Given the description of an element on the screen output the (x, y) to click on. 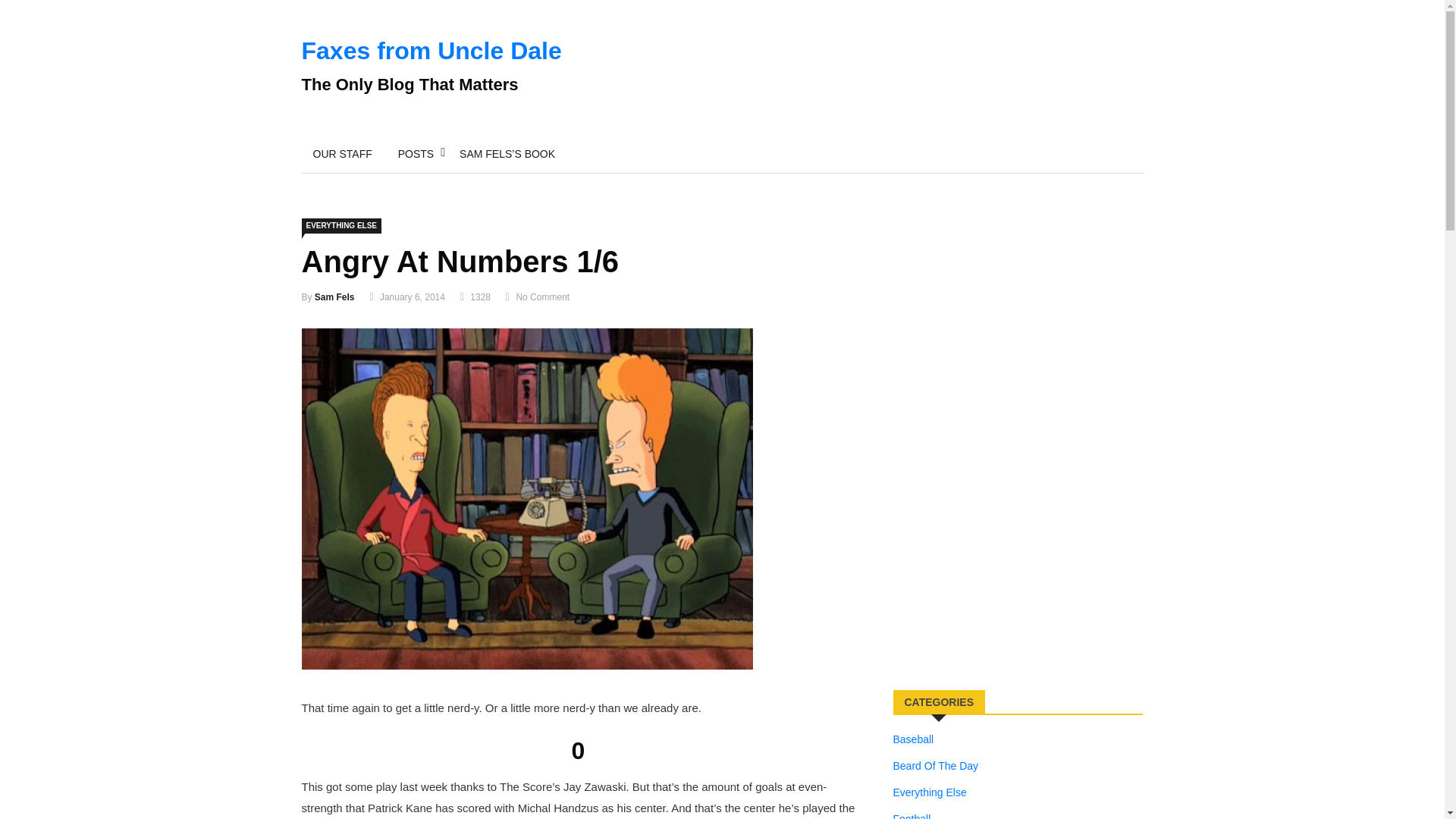
Everything Else (929, 791)
Sam Fels (334, 296)
Faxes from Uncle Dale (431, 50)
Beard Of The Day (935, 765)
Baseball (913, 739)
POSTS (416, 153)
No Comment (542, 296)
OUR STAFF (342, 153)
Football (912, 814)
EVERYTHING ELSE (341, 225)
